Given the description of an element on the screen output the (x, y) to click on. 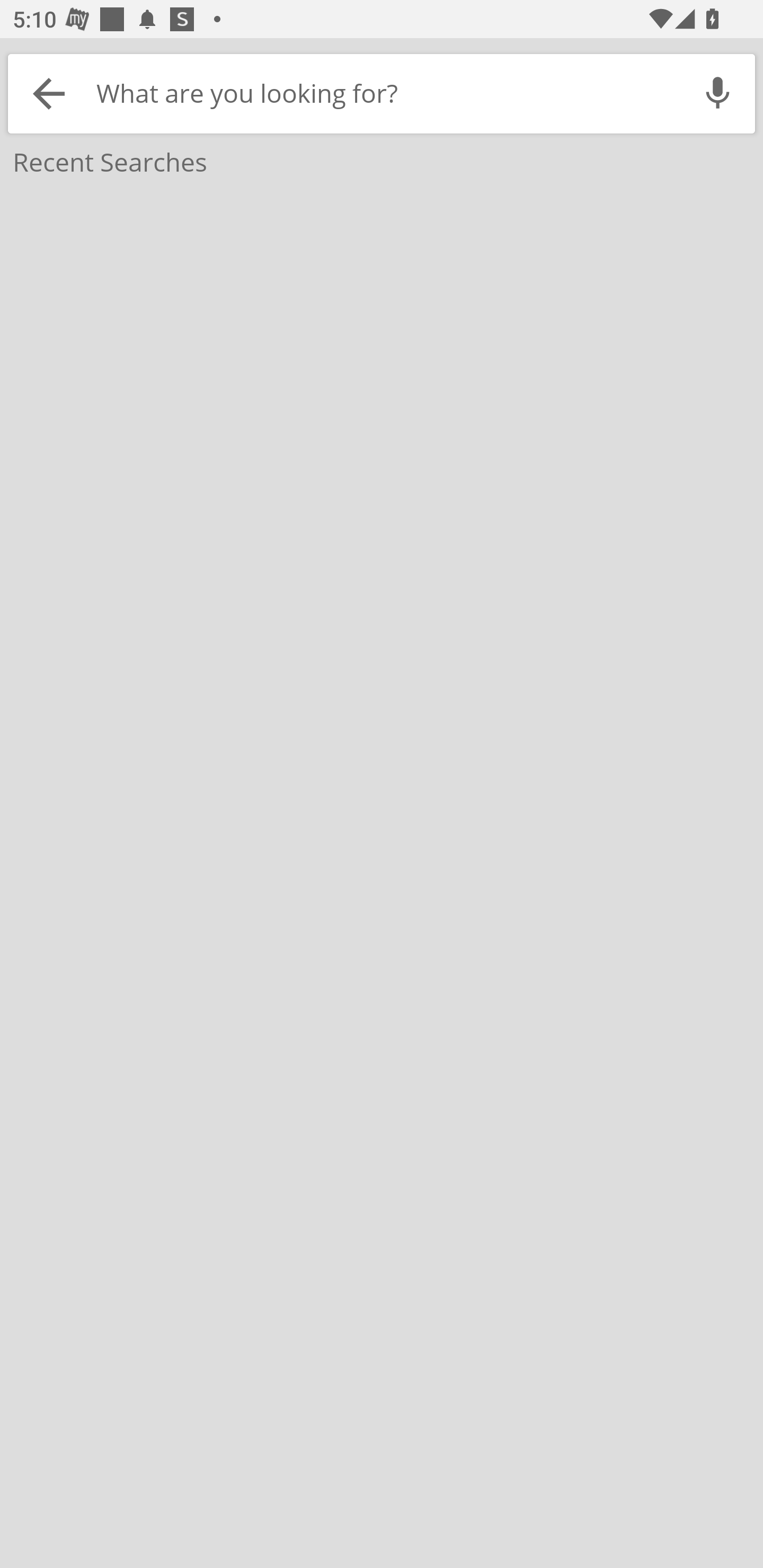
What are you looking for? (385, 93)
